Given the description of an element on the screen output the (x, y) to click on. 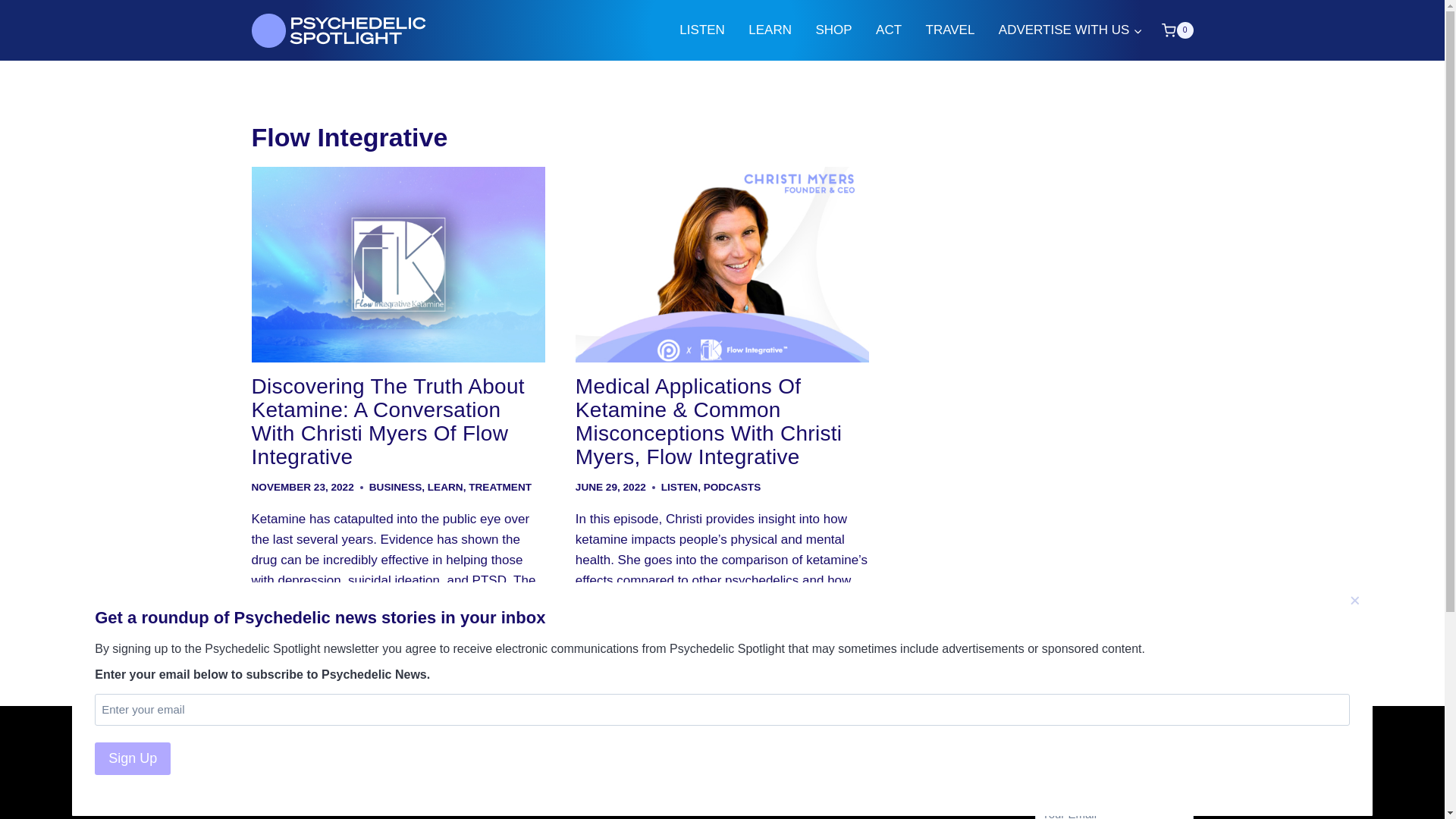
LEARN (769, 30)
BUSINESS (395, 487)
Glossary (852, 783)
Advertise With Us (591, 807)
0 (1176, 30)
TRAVEL (950, 30)
Sign Up (132, 758)
About (591, 783)
LISTEN (679, 487)
LEARN (445, 487)
SHOP (833, 30)
ADVERTISE WITH US (1070, 30)
PODCASTS (732, 487)
LISTEN (702, 30)
